Given the description of an element on the screen output the (x, y) to click on. 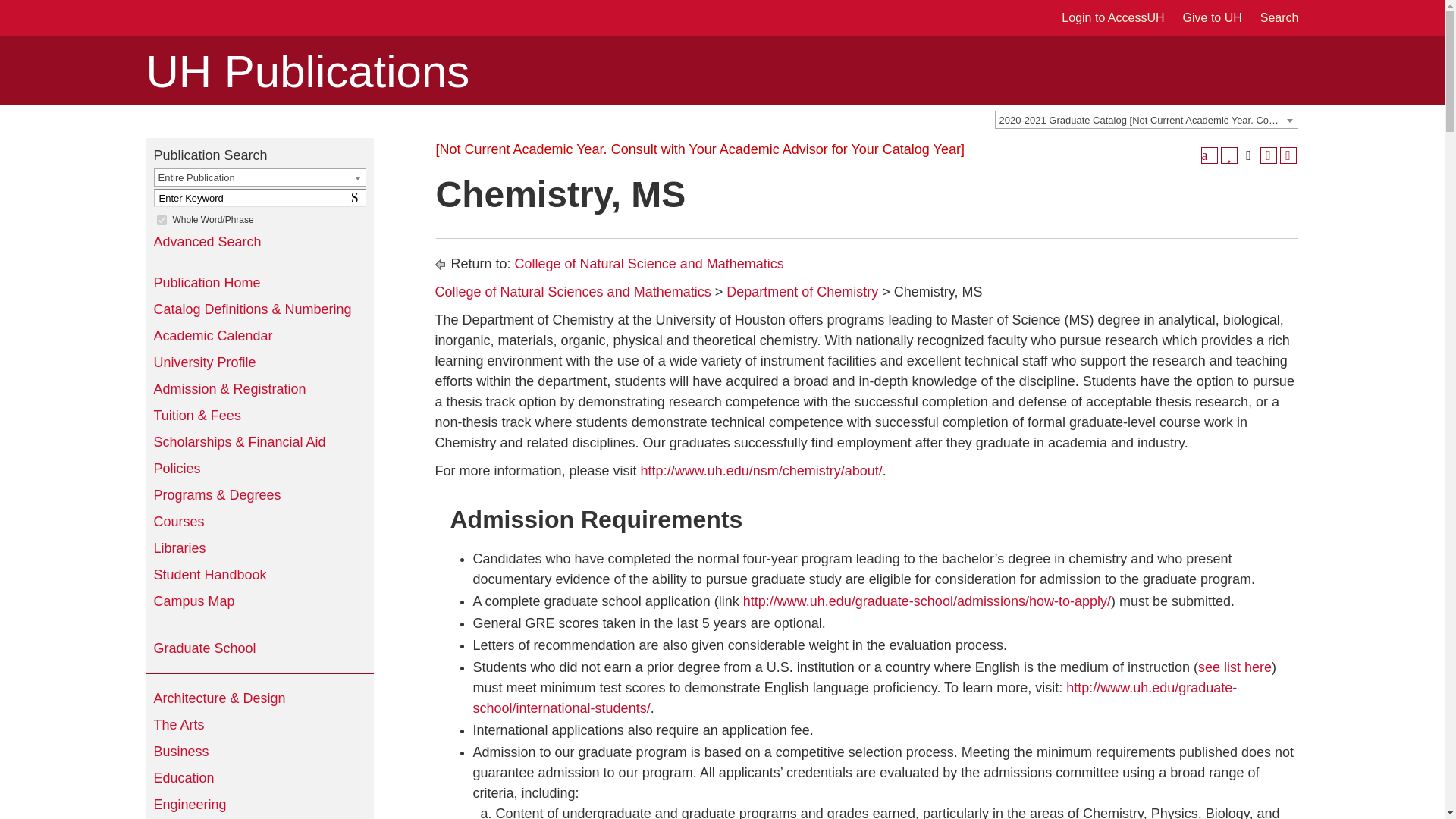
The Arts (258, 724)
Search (1278, 18)
Education (258, 777)
Enter Keyword   (258, 198)
Search Keyword Field, required (258, 198)
Libraries (258, 548)
Courses (258, 521)
Exact Match (357, 197)
Select a Publication (160, 220)
Policies (1146, 119)
Hotel and Restaurant Management (258, 468)
Select a Publication (357, 197)
